Given the description of an element on the screen output the (x, y) to click on. 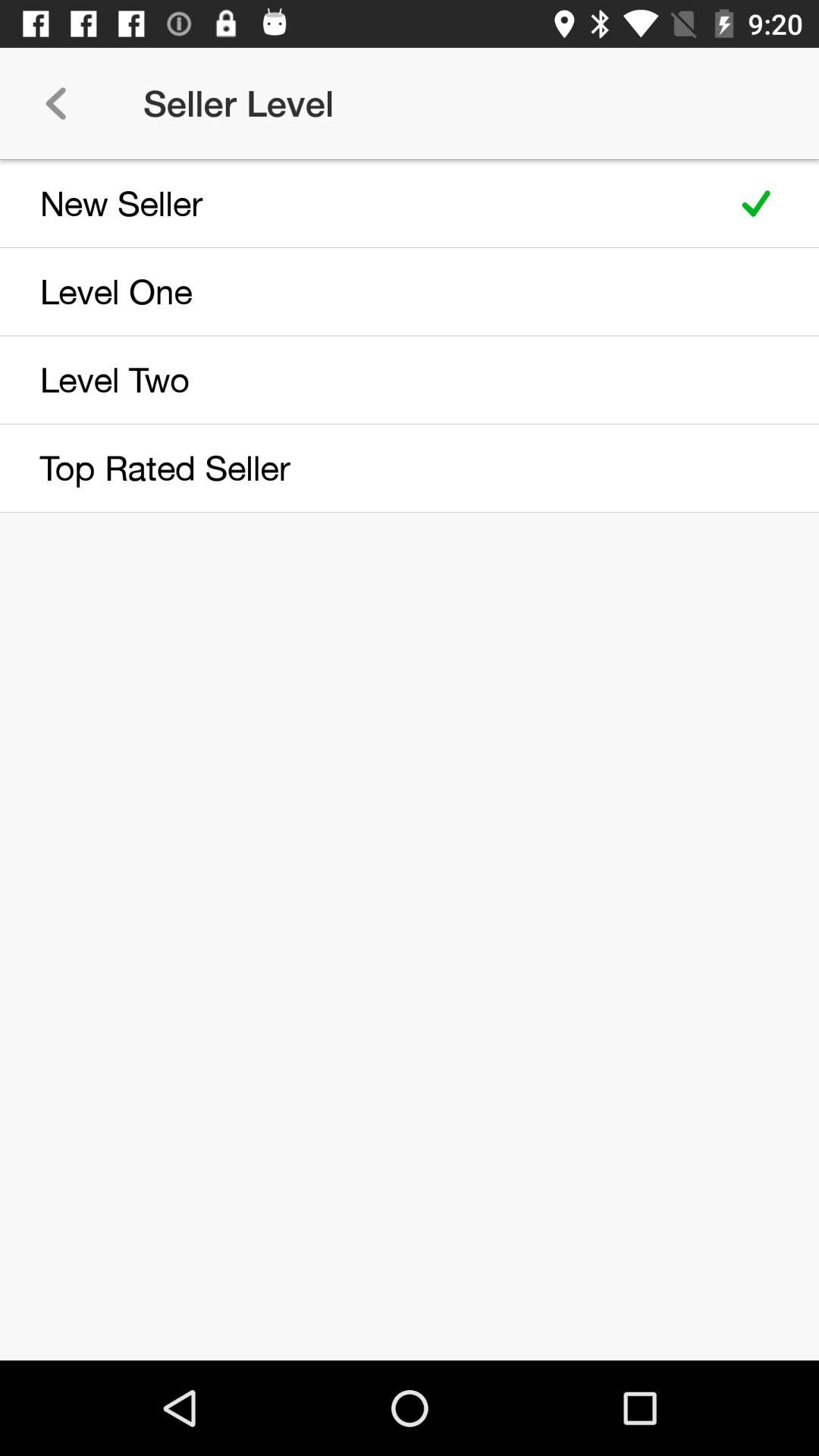
launch level two item (358, 379)
